Given the description of an element on the screen output the (x, y) to click on. 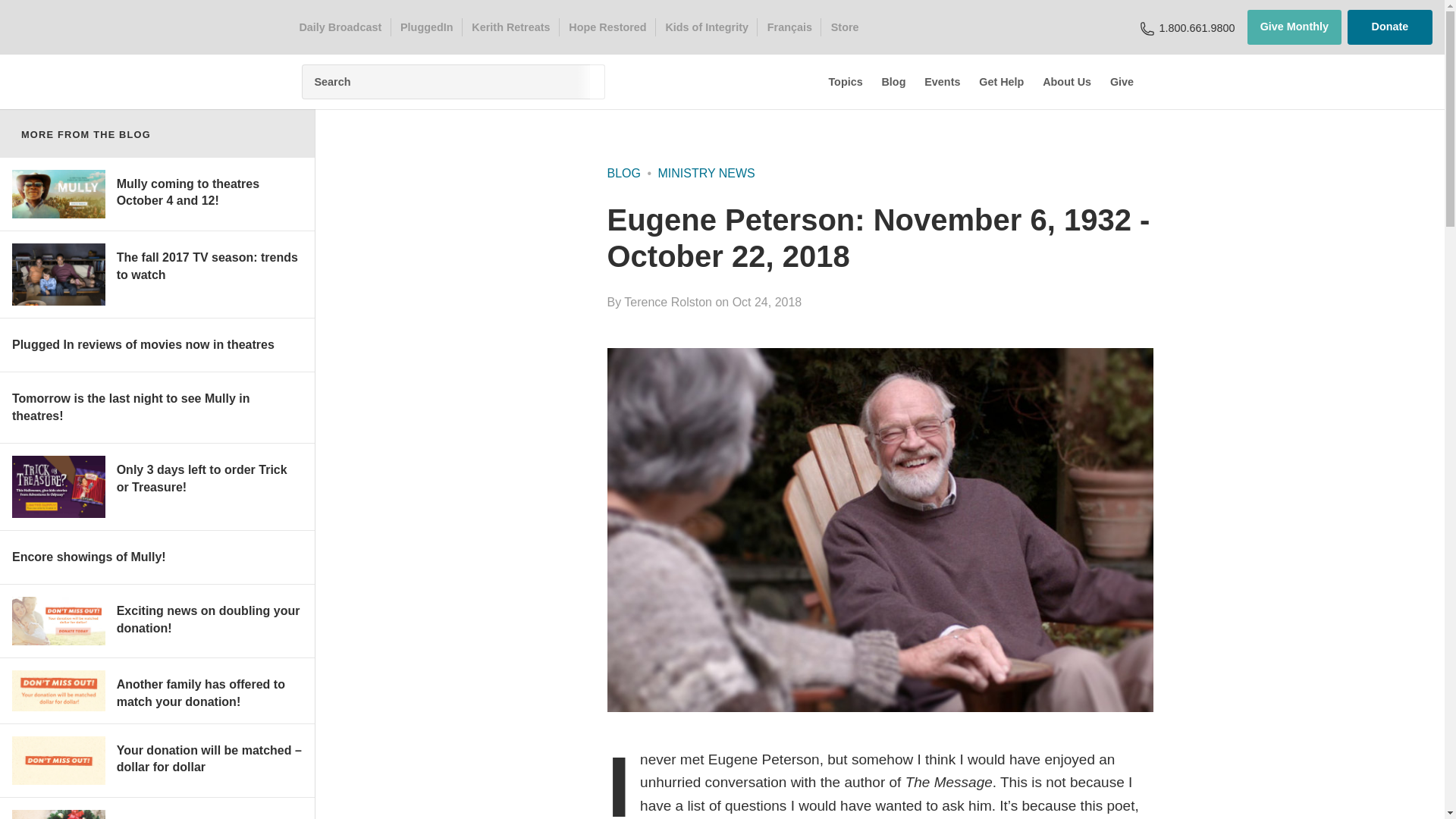
Give Monthly (1293, 27)
Store (844, 27)
Get Help (1001, 81)
Donate (1390, 27)
Hope Restored (608, 27)
1.800.661.9800 (1196, 27)
PluggedIn (426, 27)
Kerith Retreats (511, 27)
About Us (1066, 81)
Kids of Integrity (707, 27)
